Given the description of an element on the screen output the (x, y) to click on. 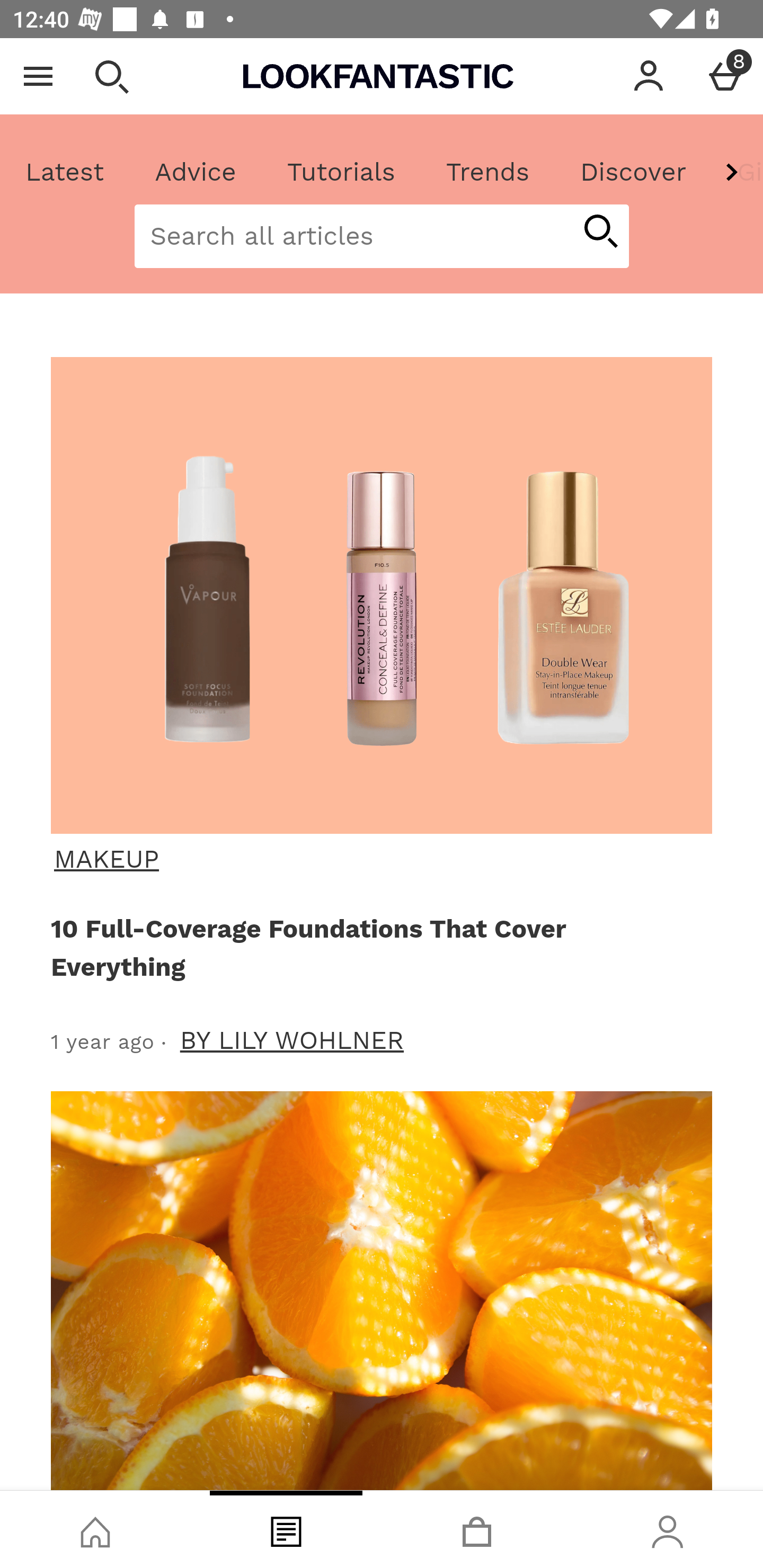
Open Menu (38, 75)
Open search (111, 75)
Account (648, 75)
Basket Menu (724, 75)
Latest (65, 172)
Advice (195, 172)
Tutorials (340, 172)
Trends (486, 172)
Discover (632, 172)
Gift Guide (736, 172)
start article search (599, 232)
MAKEUP (379, 858)
10 Full-Coverage Foundations That Cover Everything (377, 947)
BY LILY WOHLNER (292, 1040)
Shop, tab, 1 of 4 (95, 1529)
Blog, tab, 2 of 4 (285, 1529)
Basket, tab, 3 of 4 (476, 1529)
Account, tab, 4 of 4 (667, 1529)
